Given the description of an element on the screen output the (x, y) to click on. 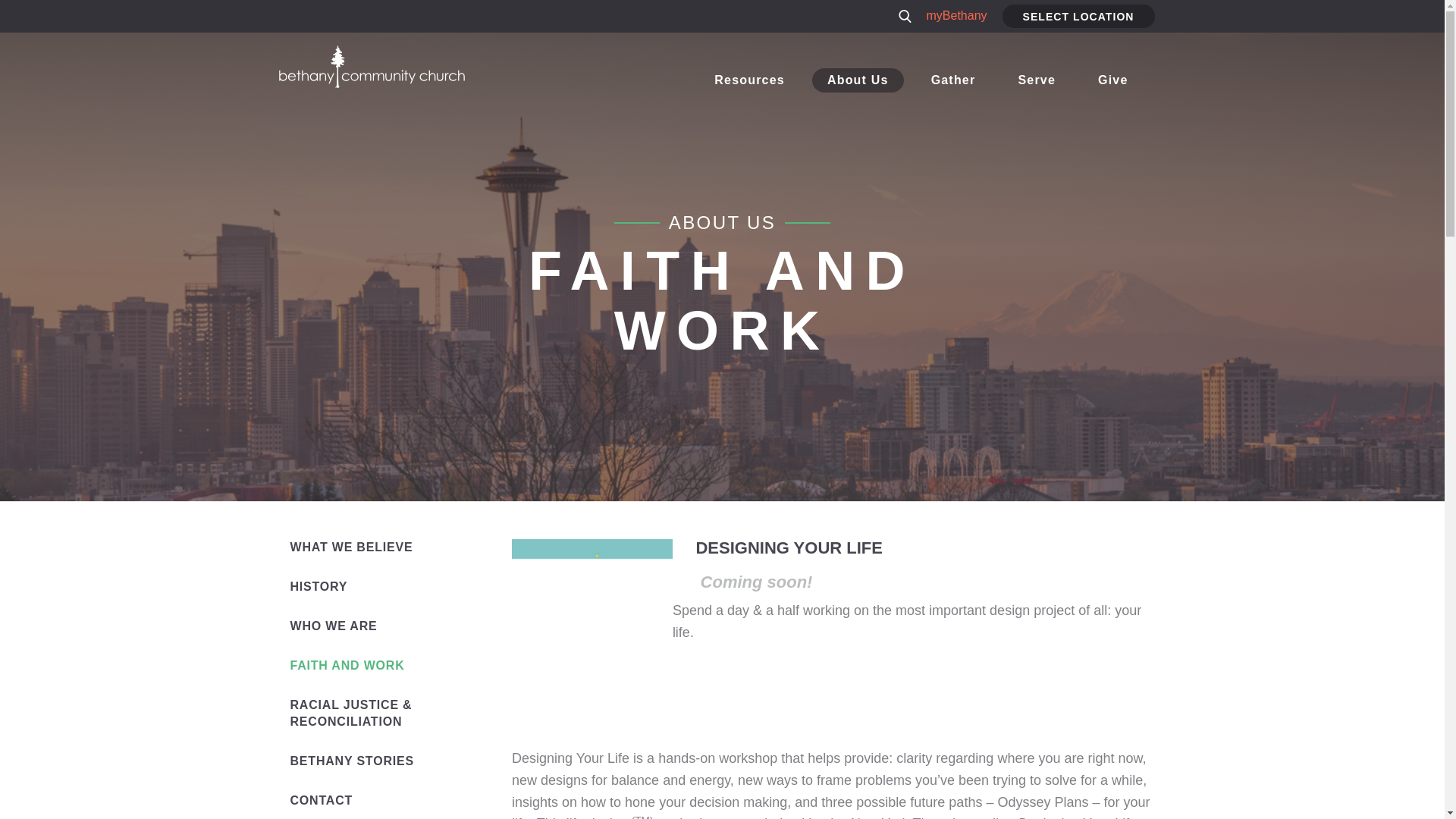
myBethany (956, 16)
Serve (1036, 79)
Gather (953, 79)
SELECT LOCATION (1078, 15)
Resources (748, 79)
About Us (858, 79)
Give (1112, 79)
